Given the description of an element on the screen output the (x, y) to click on. 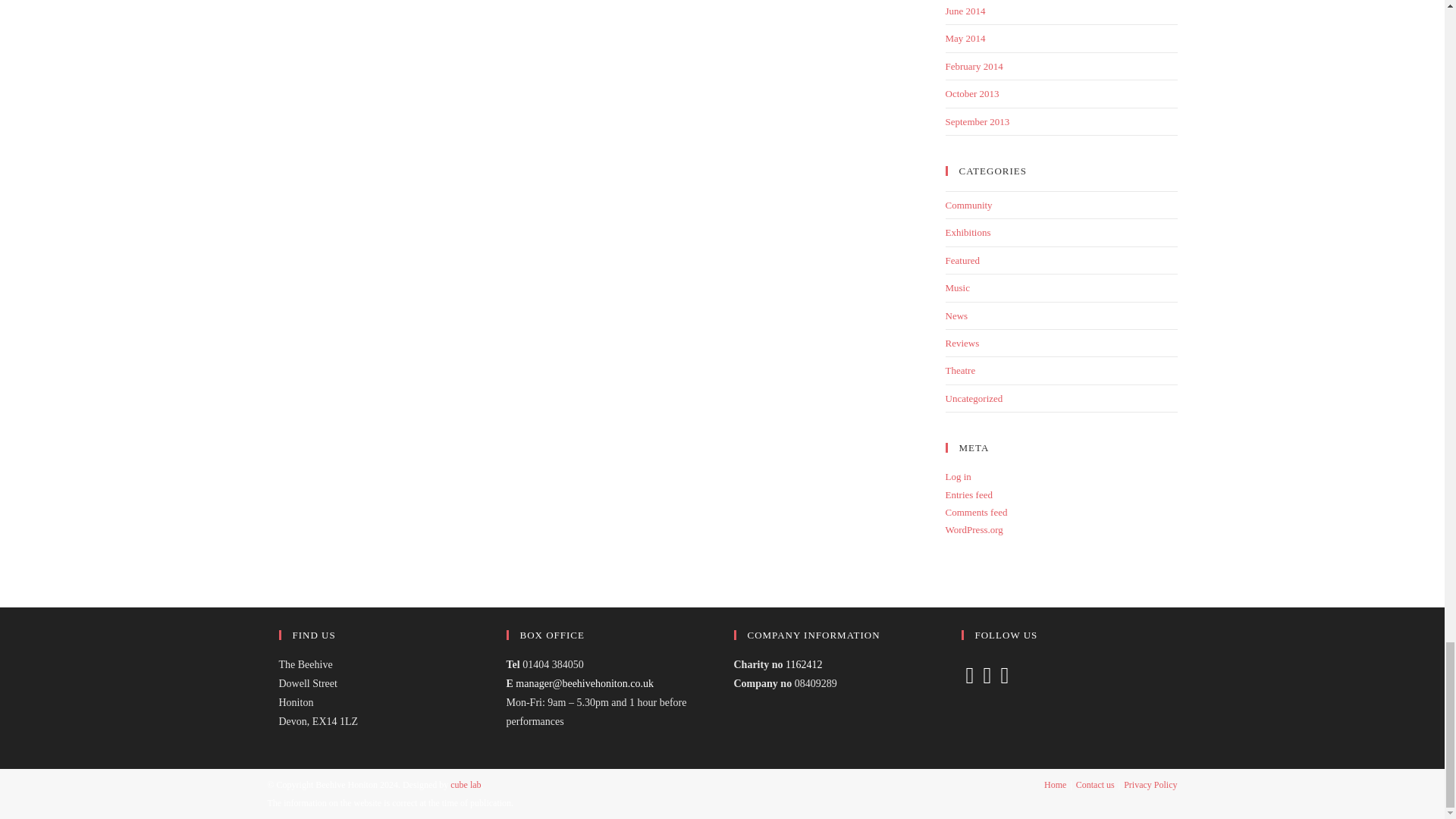
web design Devon (464, 784)
